Given the description of an element on the screen output the (x, y) to click on. 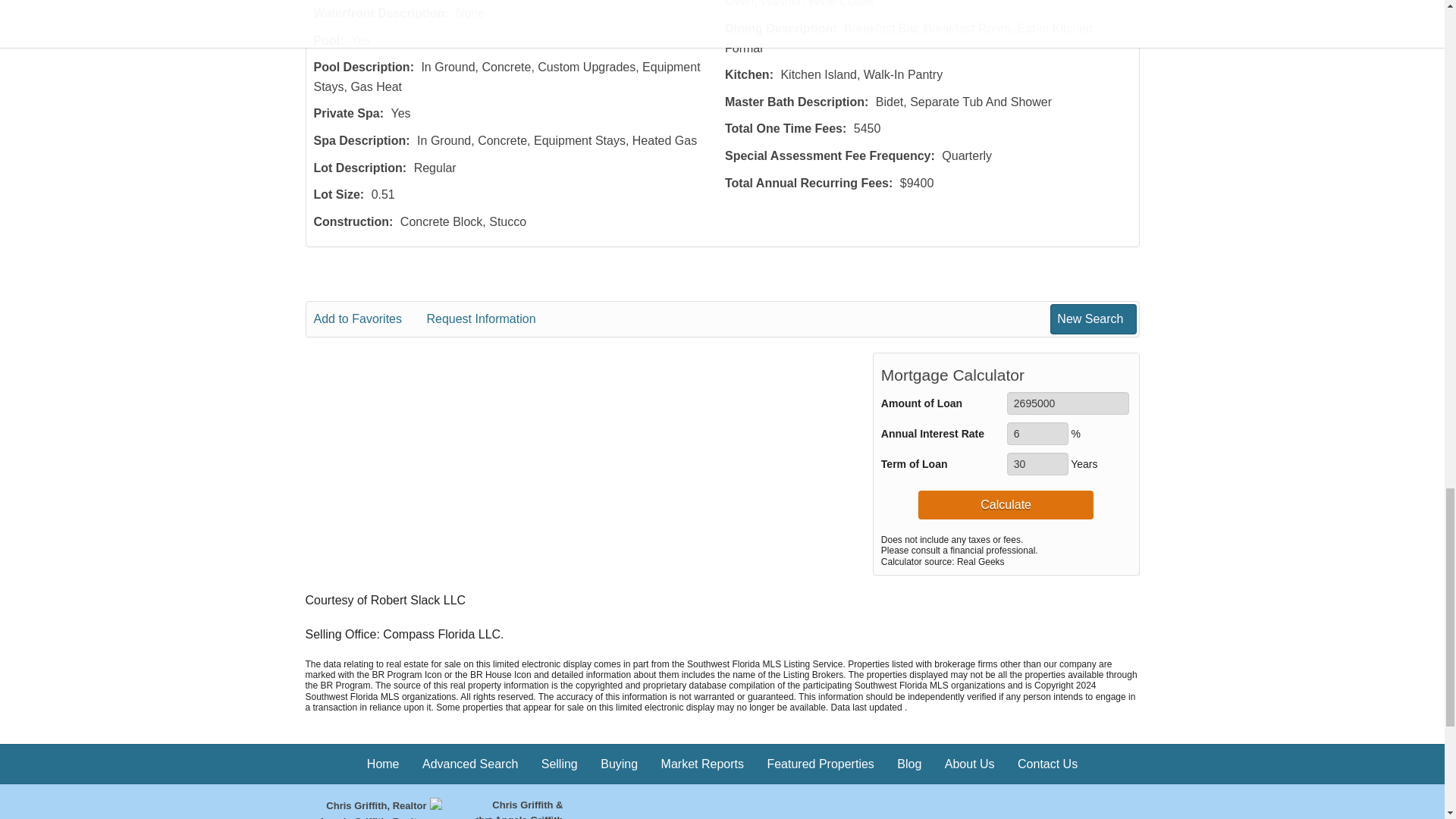
6 (1037, 433)
30 (1037, 463)
2695000 (1068, 403)
